Given the description of an element on the screen output the (x, y) to click on. 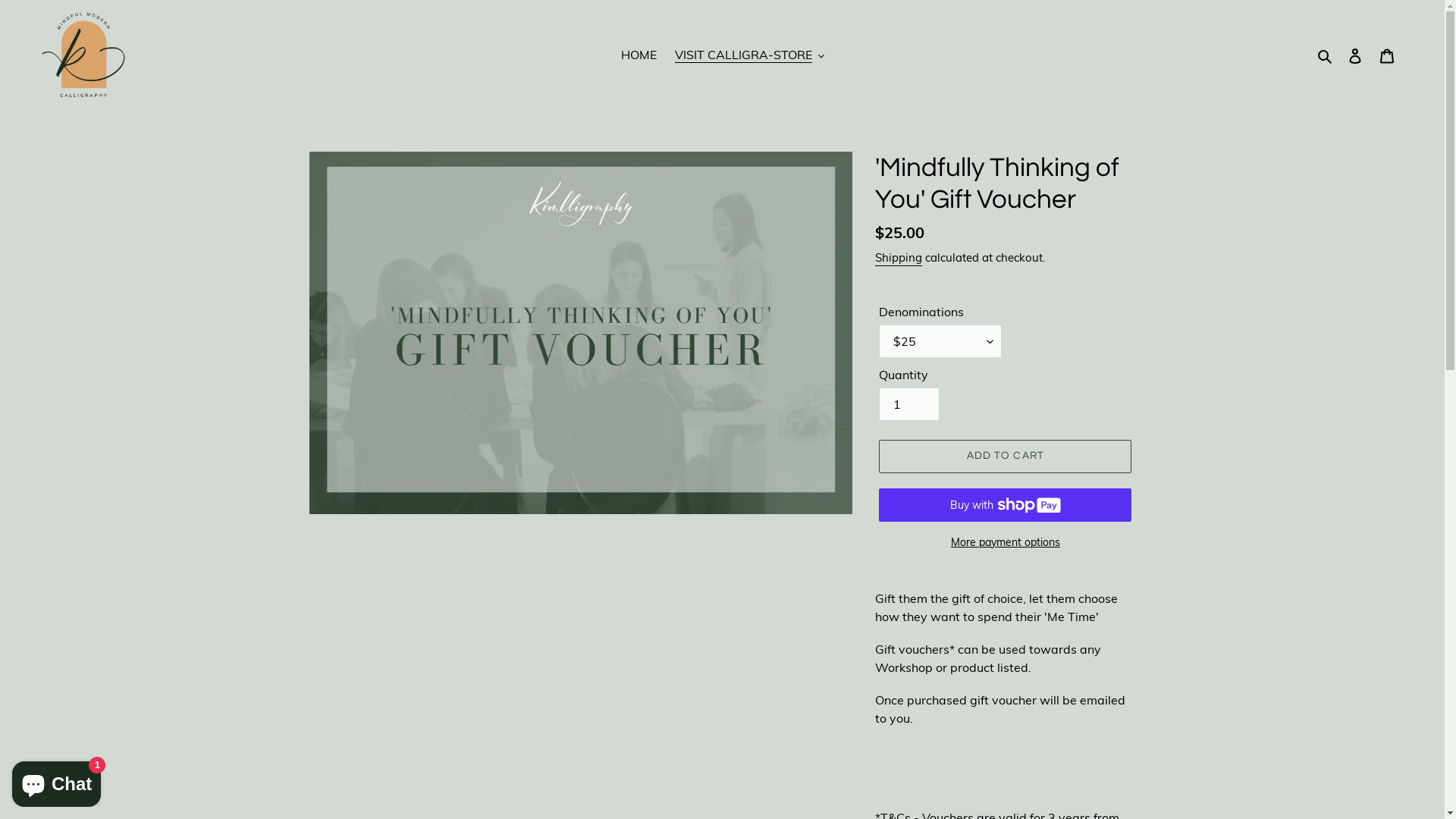
VISIT CALLIGRA-STORE Element type: text (749, 54)
Shopify online store chat Element type: hover (56, 780)
ADD TO CART Element type: text (1004, 456)
HOME Element type: text (637, 54)
Search Element type: text (1325, 54)
Log in Element type: text (1355, 54)
Cart Element type: text (1386, 54)
More payment options Element type: text (1004, 542)
Shipping Element type: text (898, 258)
